Given the description of an element on the screen output the (x, y) to click on. 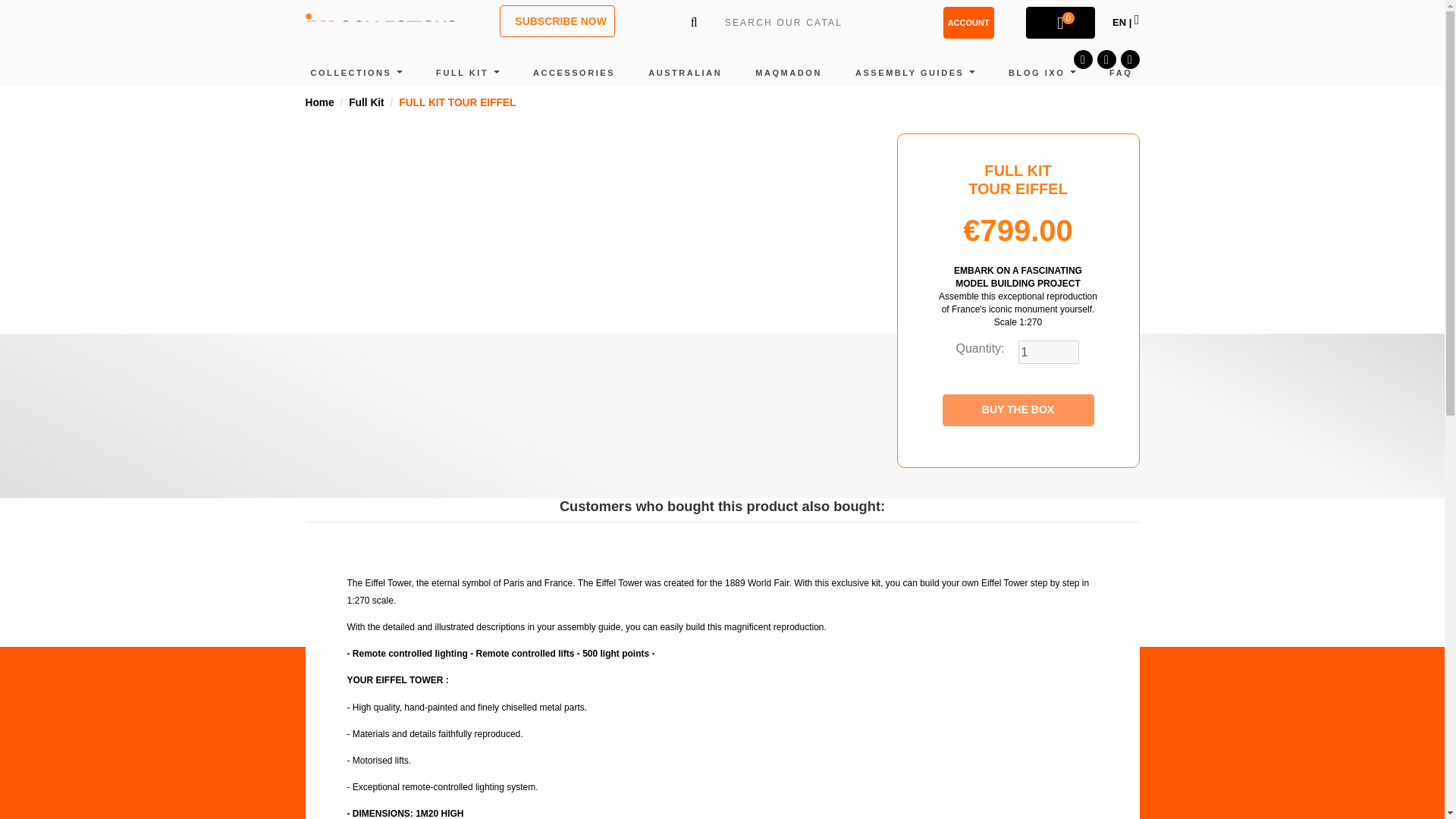
ACCOUNT (968, 22)
1 (1047, 351)
0 (1060, 22)
SUBSCRIBE NOW (556, 20)
COLLECTIONS (357, 72)
Log in to your customer account (968, 22)
